Given the description of an element on the screen output the (x, y) to click on. 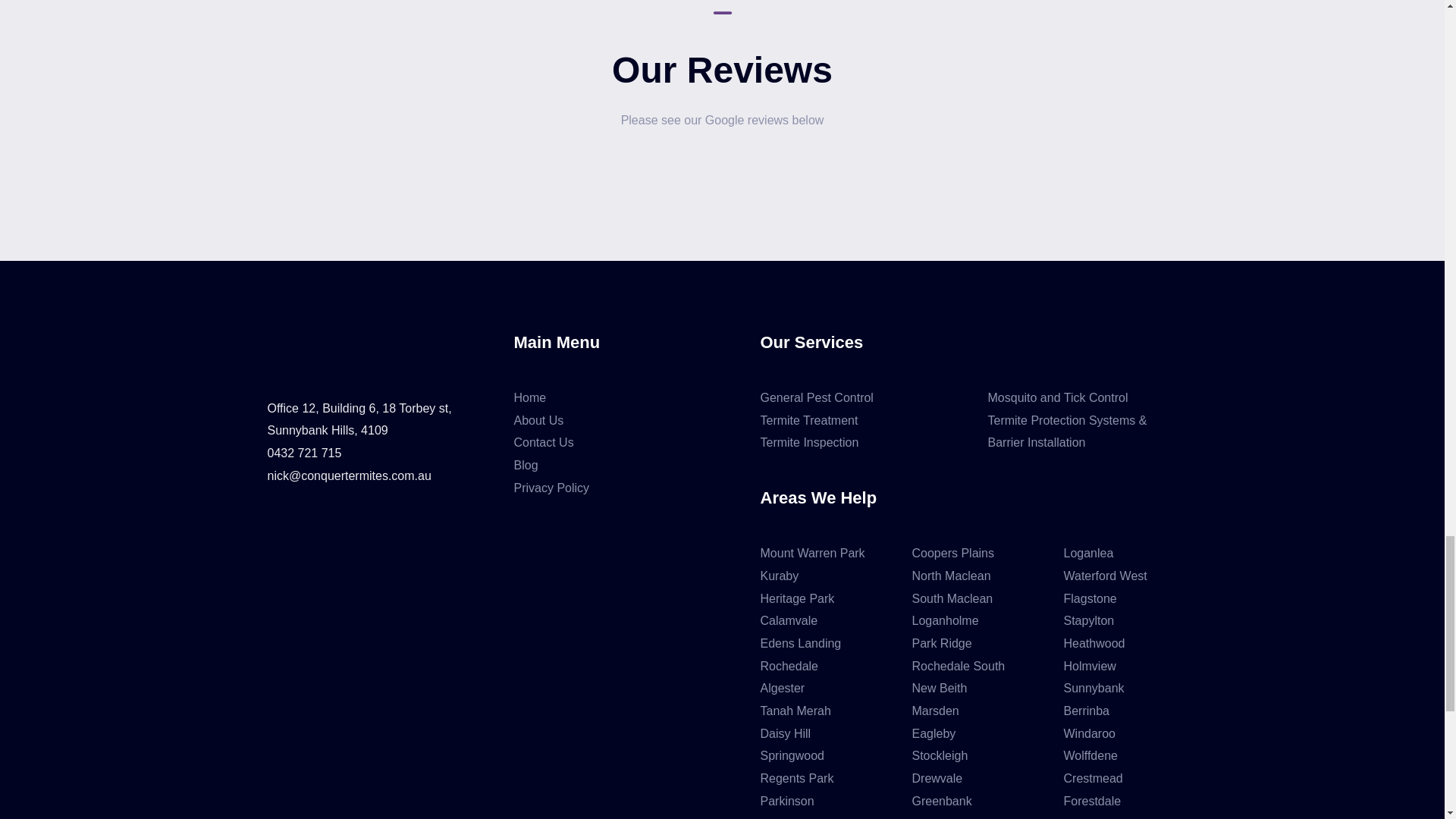
Contact Us (543, 441)
About Us (538, 420)
Termite Treatment (808, 420)
Home (530, 397)
General Pest Control (816, 397)
Blog (525, 464)
Privacy Policy (551, 487)
